Given the description of an element on the screen output the (x, y) to click on. 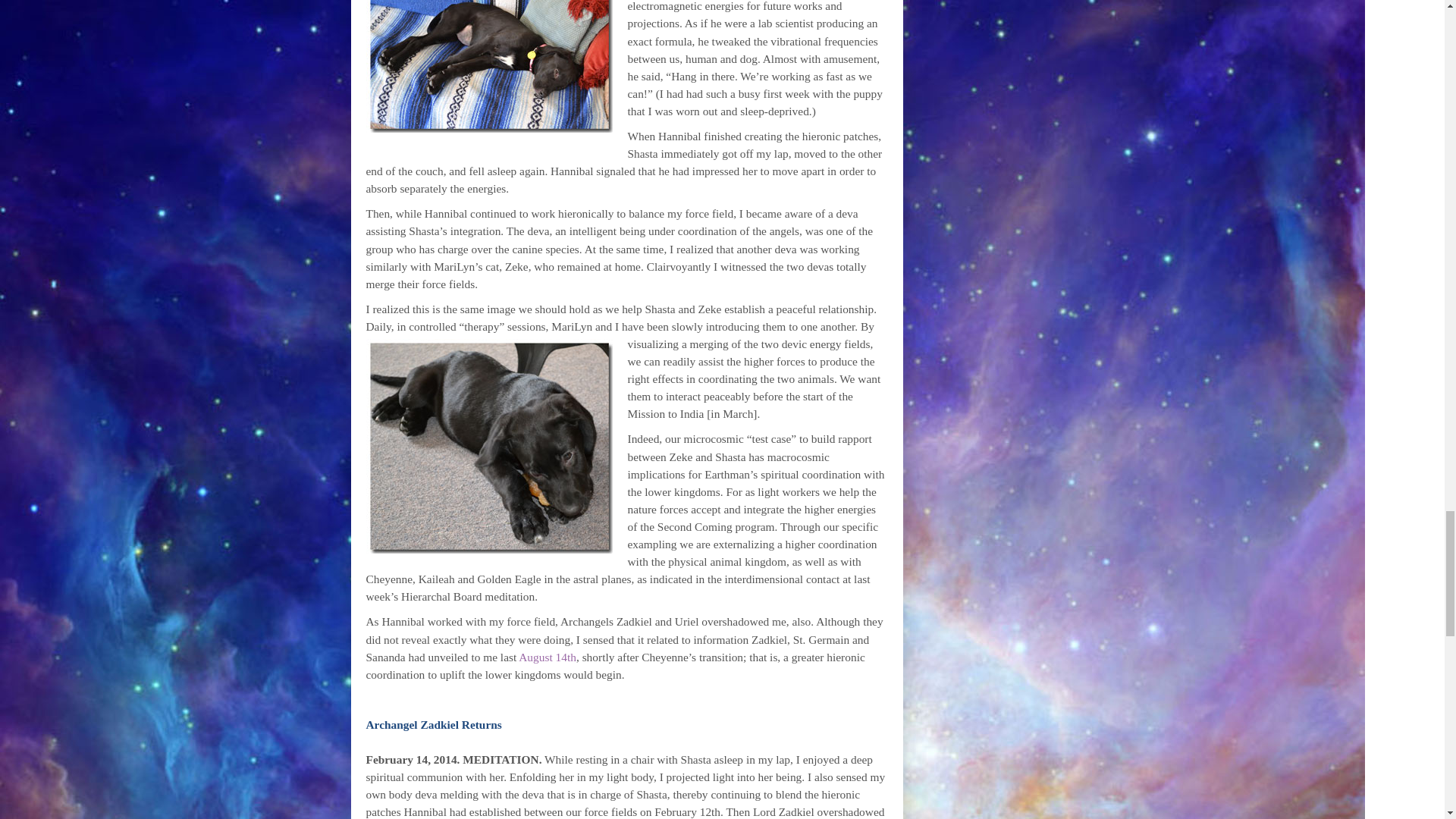
August 14th (547, 656)
